Given the description of an element on the screen output the (x, y) to click on. 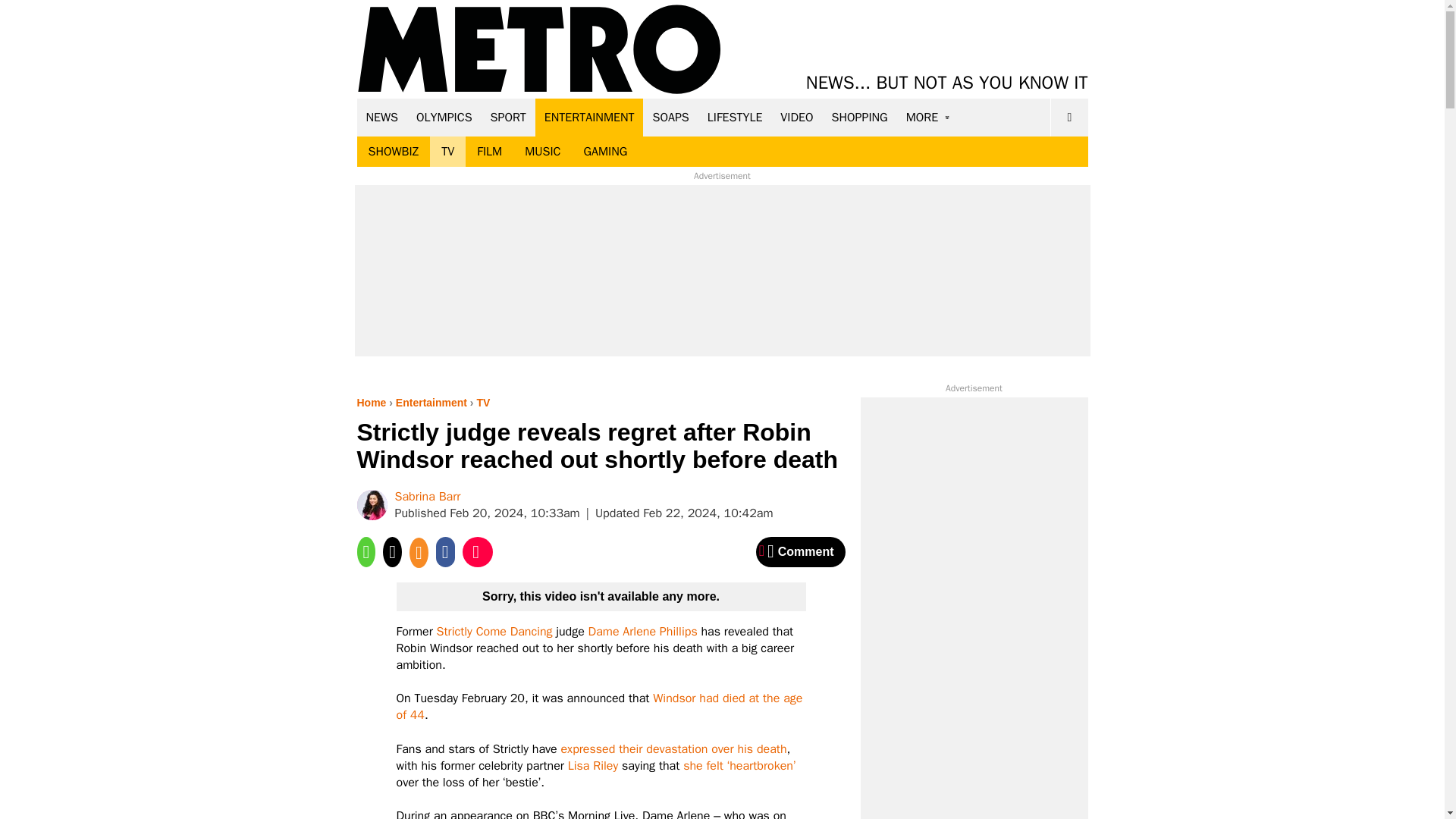
ENTERTAINMENT (589, 117)
GAMING (605, 151)
Metro (539, 50)
FILM (489, 151)
NEWS (381, 117)
SHOWBIZ (392, 151)
SPORT (508, 117)
OLYMPICS (444, 117)
TV (447, 151)
LIFESTYLE (734, 117)
